Given the description of an element on the screen output the (x, y) to click on. 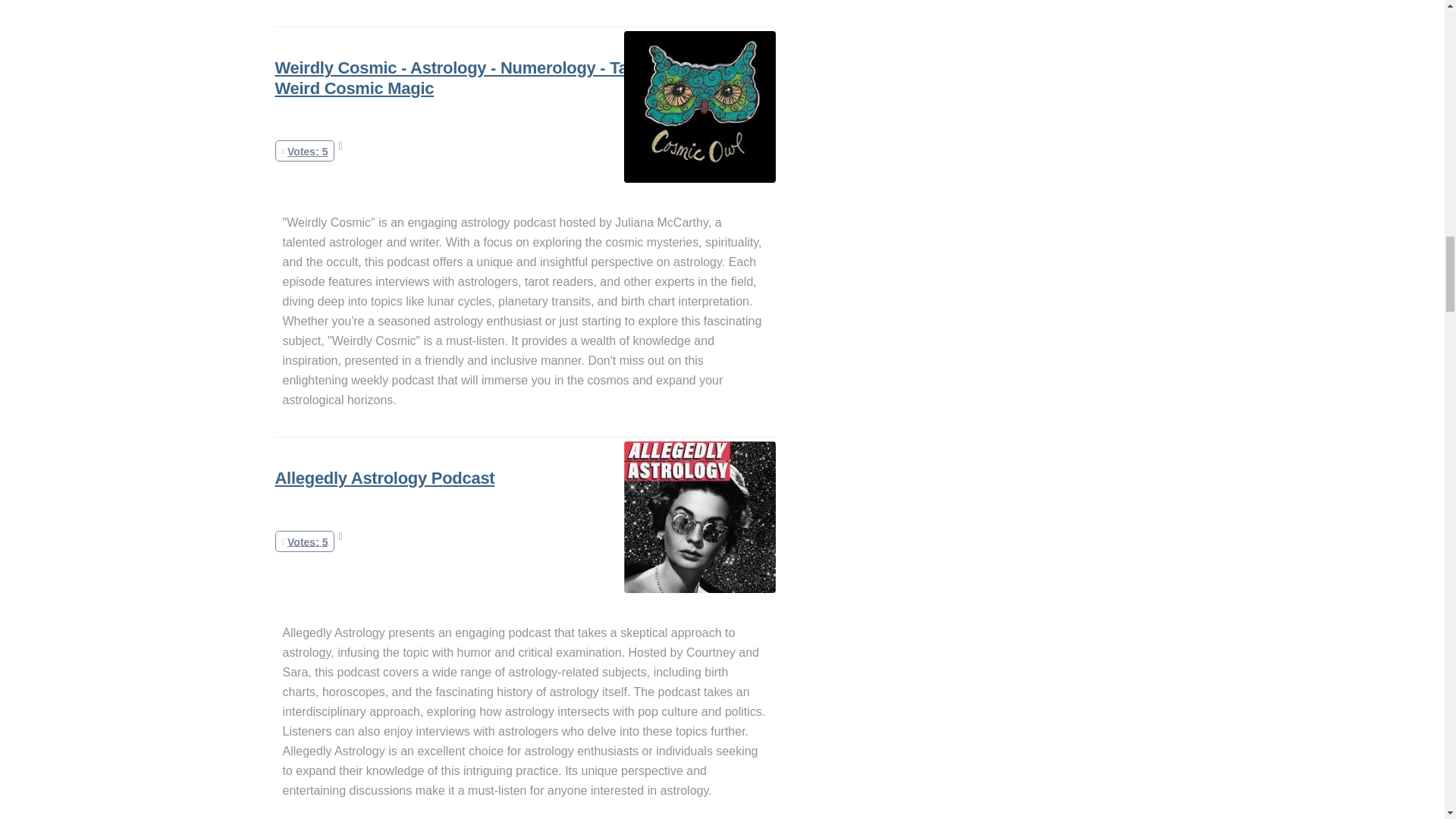
Votes: 5 (305, 150)
Votes: 5 (305, 541)
Allegedly Astrology Podcast (385, 477)
